Given the description of an element on the screen output the (x, y) to click on. 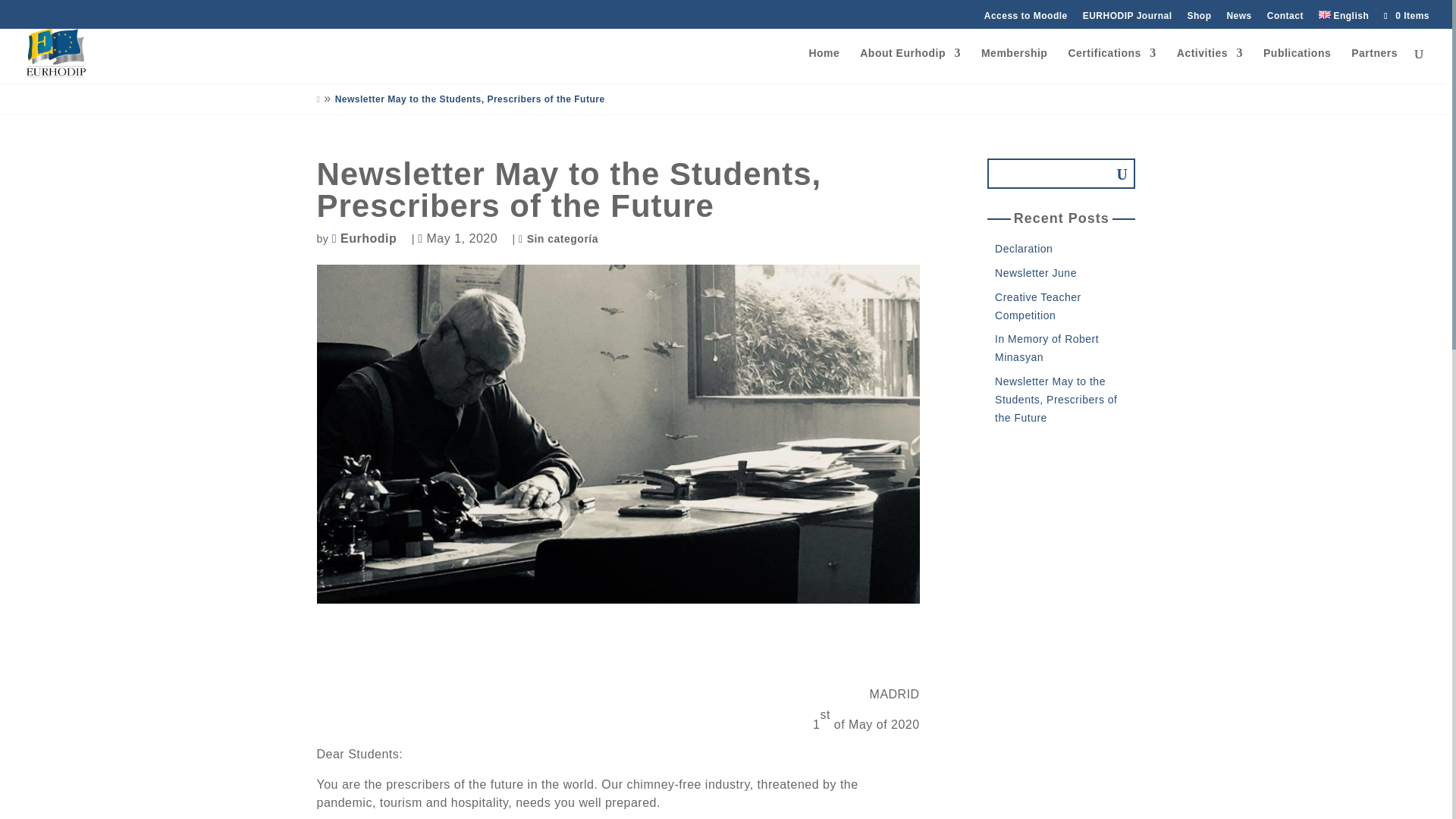
Posts by Eurhodip (372, 237)
Search (1111, 173)
Contact (1284, 18)
Access to Moodle (1025, 18)
Publications (1296, 65)
Membership (1013, 65)
About Eurhodip (910, 65)
Search (1111, 173)
Certifications (1111, 65)
News (1237, 18)
